Given the description of an element on the screen output the (x, y) to click on. 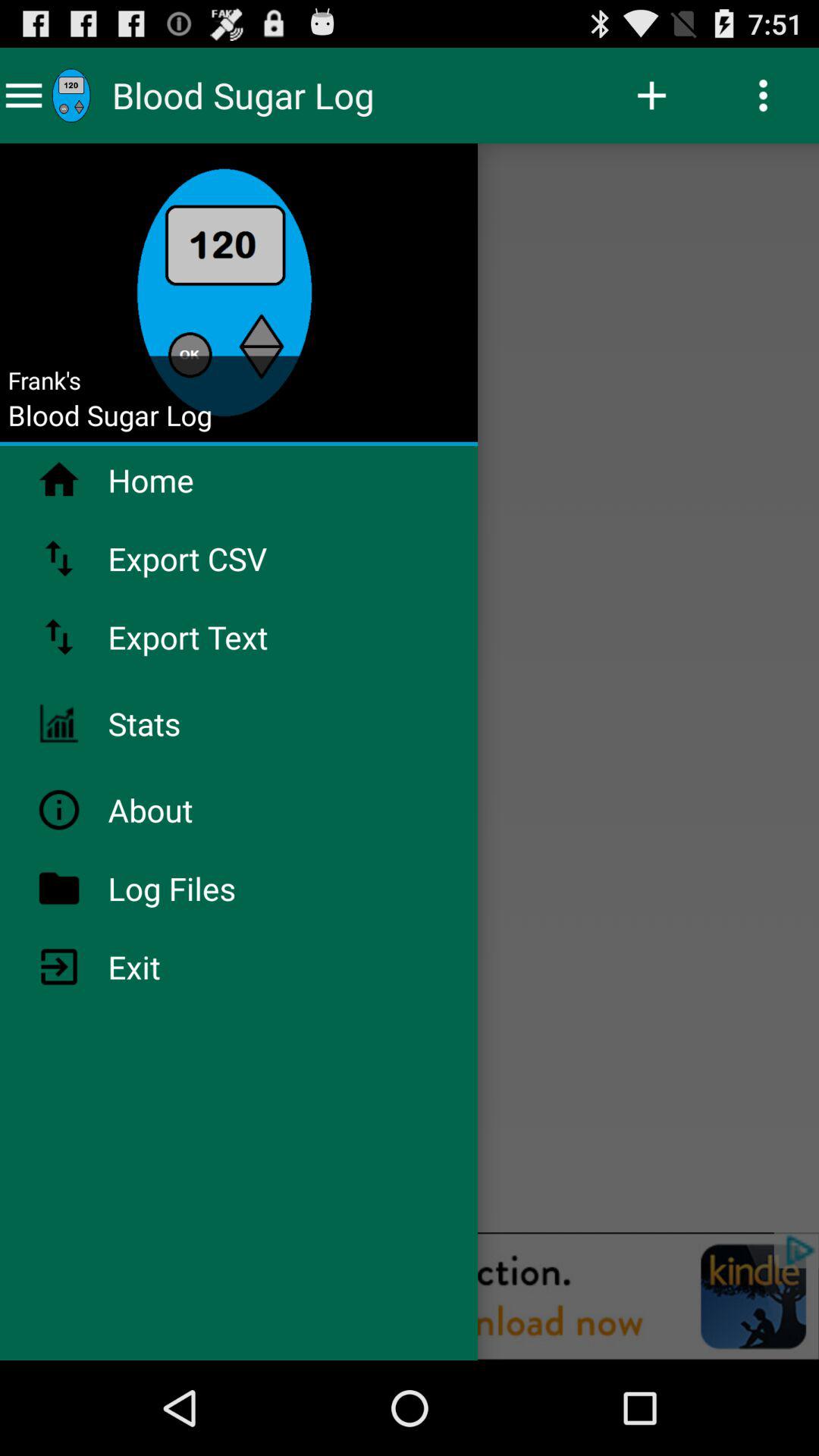
select the stats (184, 723)
